Given the description of an element on the screen output the (x, y) to click on. 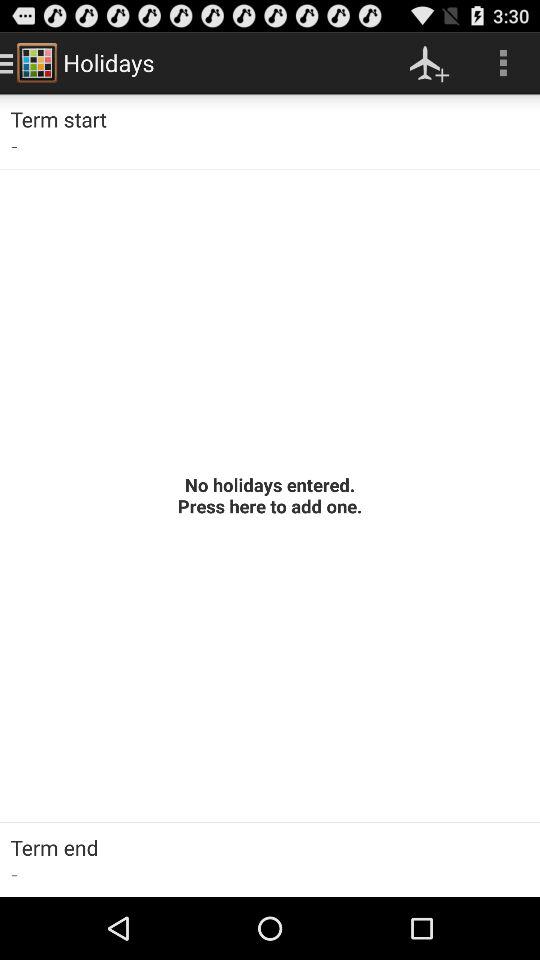
press the no holidays entered item (270, 495)
